Given the description of an element on the screen output the (x, y) to click on. 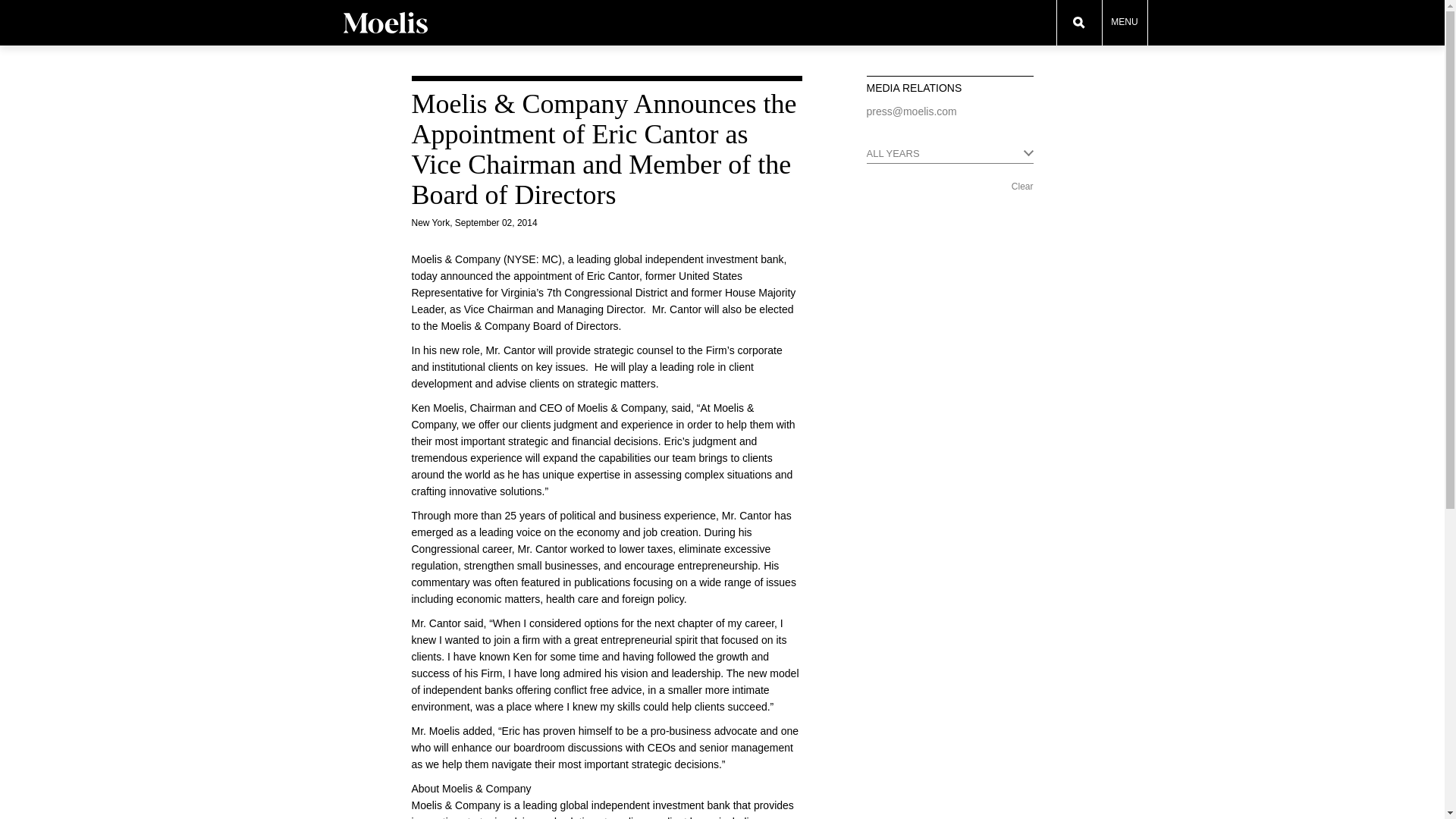
Strategic Alliances (1268, 5)
Clear (1022, 186)
